Given the description of an element on the screen output the (x, y) to click on. 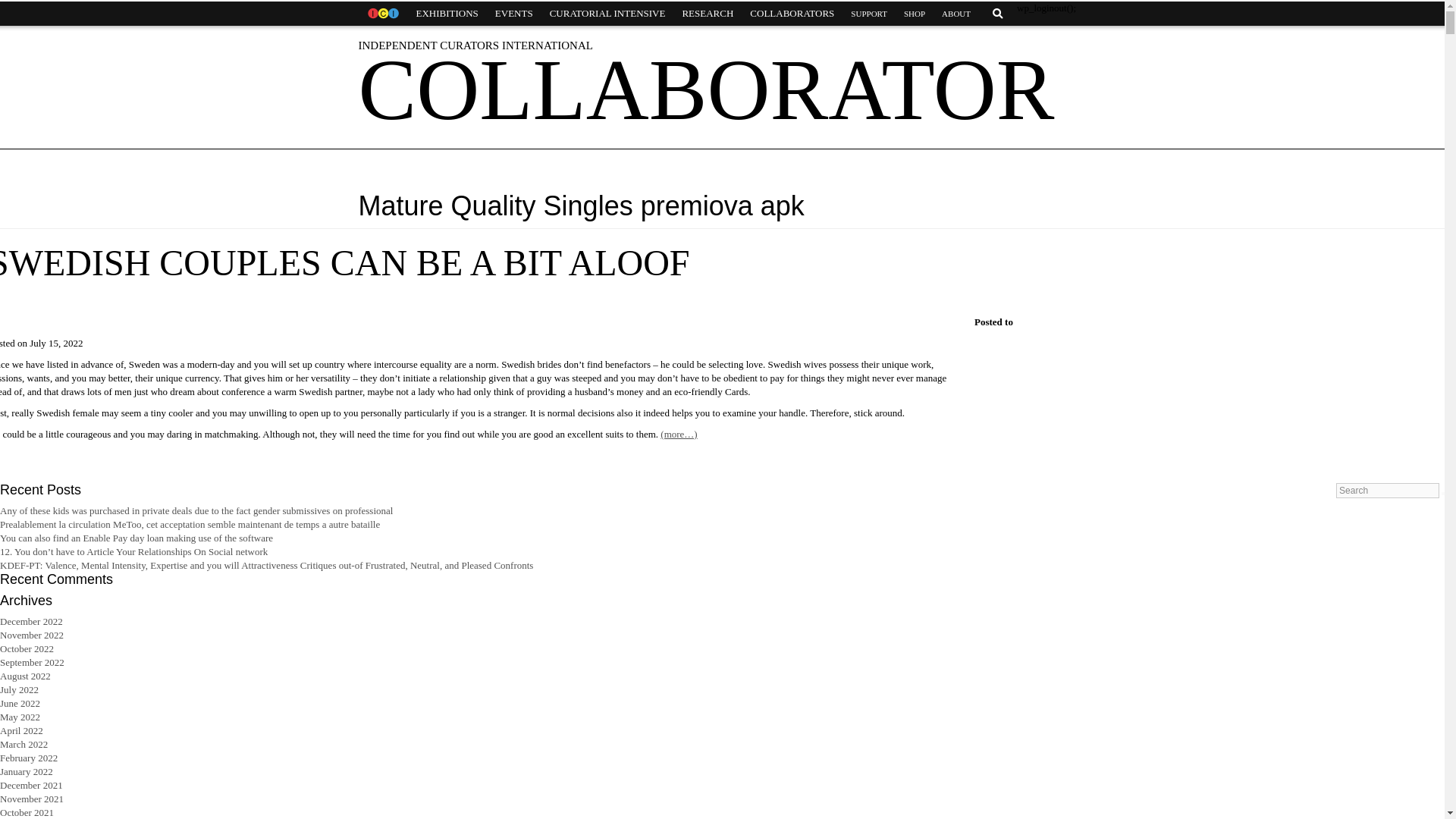
EXHIBITIONS (446, 13)
CURATORIAL INTENSIVE (607, 13)
EVENTS (513, 13)
RESEARCH (706, 13)
HOME (382, 13)
COLLABORATORS (792, 13)
